Given the description of an element on the screen output the (x, y) to click on. 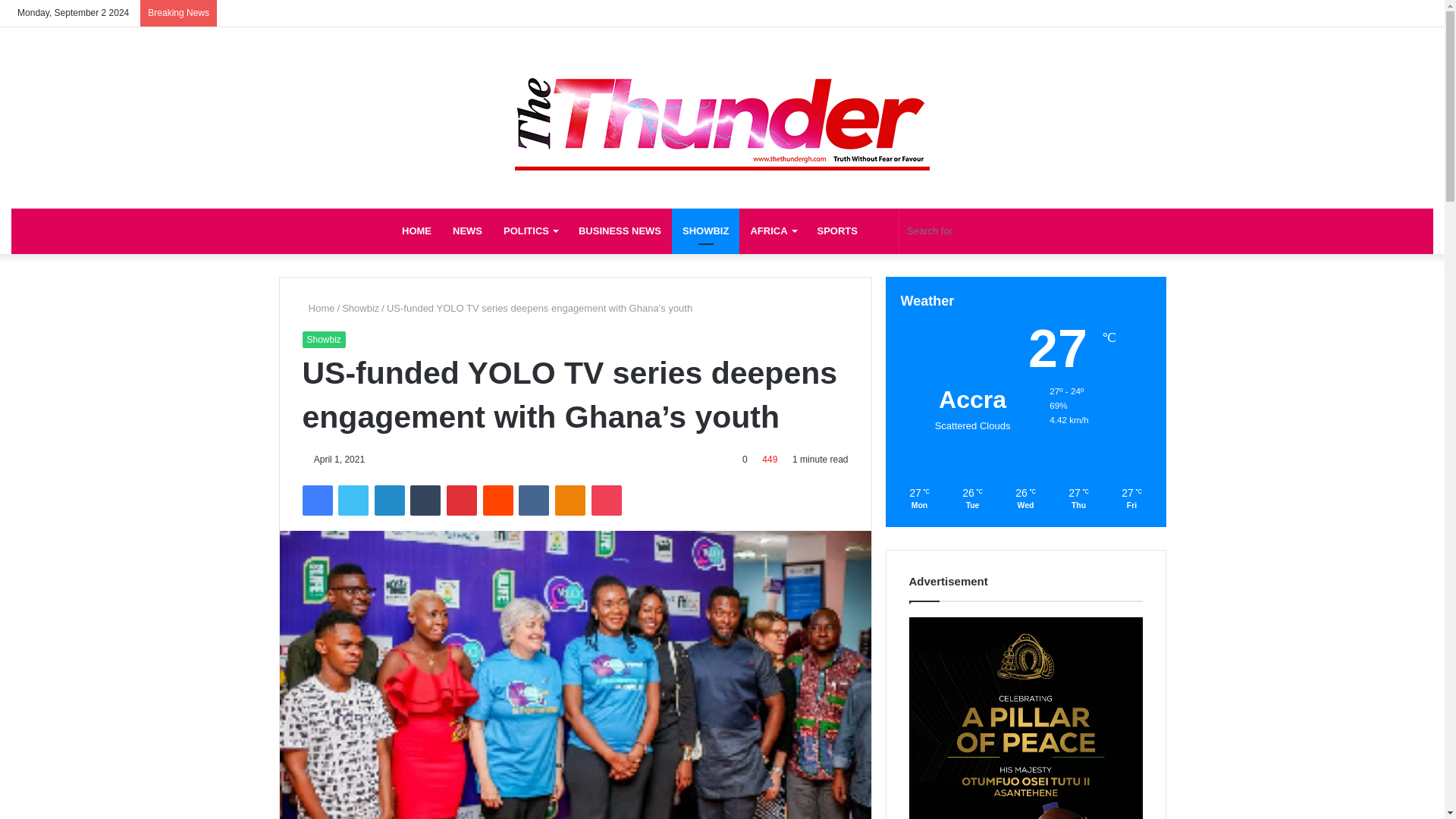
VKontakte (533, 500)
Facebook (316, 500)
AFRICA (772, 230)
Pocket (606, 500)
NEWS (467, 230)
Tumblr (425, 500)
Reddit (498, 500)
Reddit (498, 500)
Facebook (316, 500)
Showbiz (360, 307)
